Given the description of an element on the screen output the (x, y) to click on. 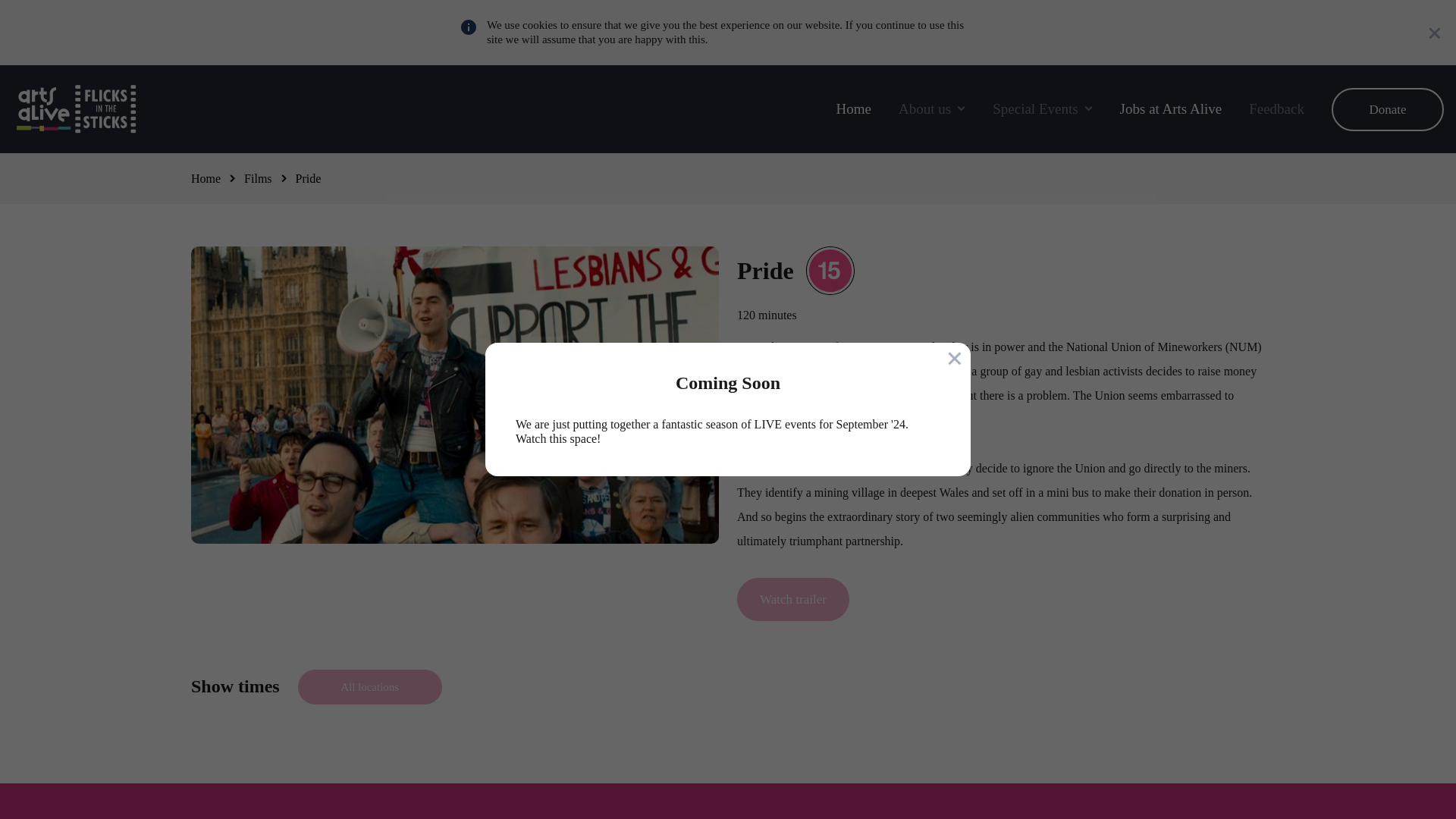
All locations (370, 686)
Special Events (1042, 108)
Donate (1388, 109)
About us (931, 108)
Feedback (1276, 108)
Films (257, 178)
Home (205, 178)
Jobs at Arts Alive (1171, 107)
Home (852, 107)
Pride (308, 178)
Home (75, 108)
Watch trailer (792, 599)
